Given the description of an element on the screen output the (x, y) to click on. 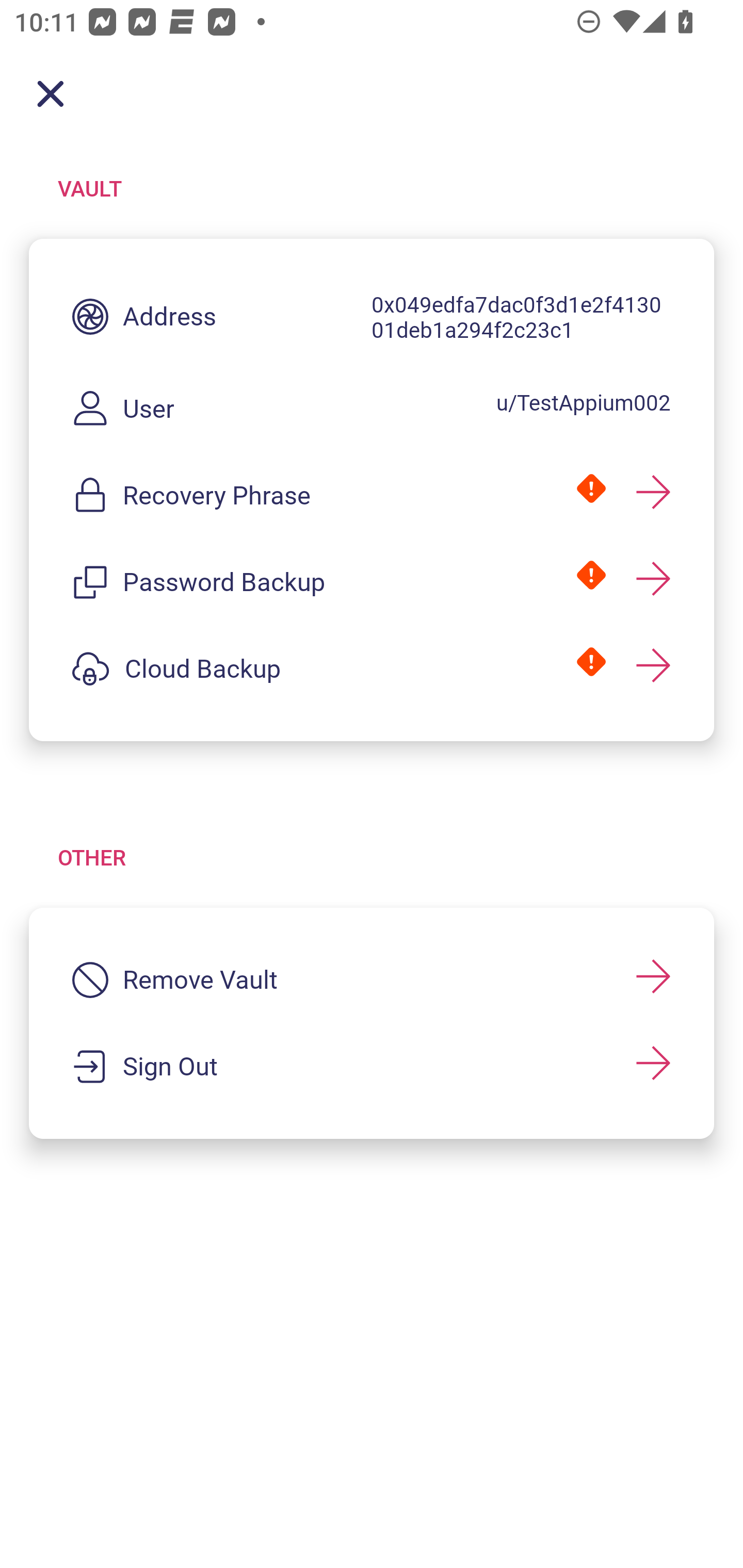
Back (50, 93)
Address 0x049edfa7dac0f3d1e2f413001deb1a294f2c23c1 (371, 316)
User u/TestAppium002 (371, 408)
Recovery Phrase (371, 495)
Password Backup (371, 582)
Cloud Backup (371, 668)
Remove Vault (371, 979)
Sign Out (371, 1066)
